Given the description of an element on the screen output the (x, y) to click on. 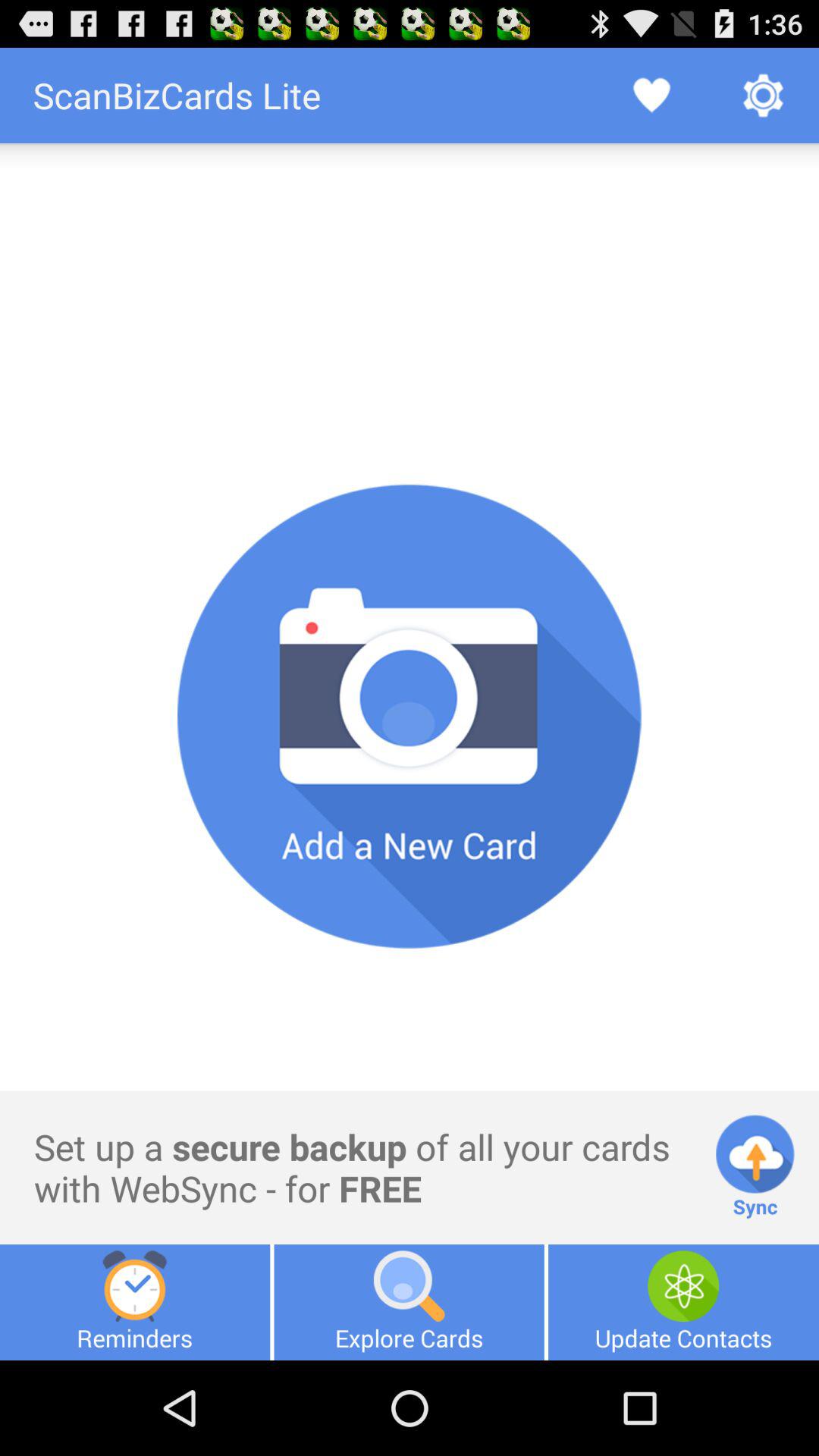
add picture (409, 716)
